Given the description of an element on the screen output the (x, y) to click on. 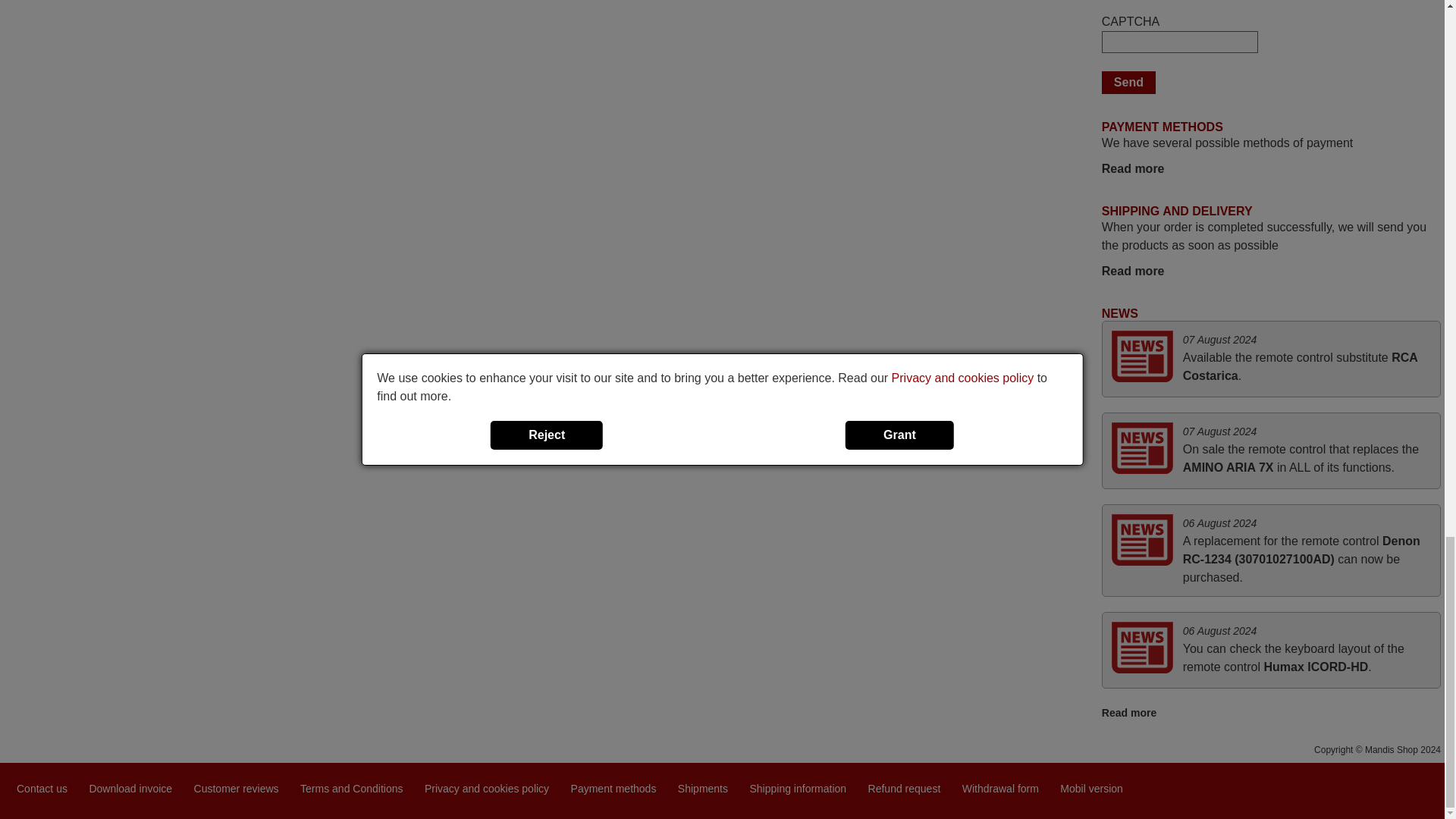
Customer reviews (236, 787)
Download invoice (130, 787)
Customer reviews (236, 787)
Read more (1133, 168)
Send (1129, 82)
Download invoice (130, 787)
Available the remote control substitute RCA Costarica. (1300, 366)
Contact us (41, 787)
